Given the description of an element on the screen output the (x, y) to click on. 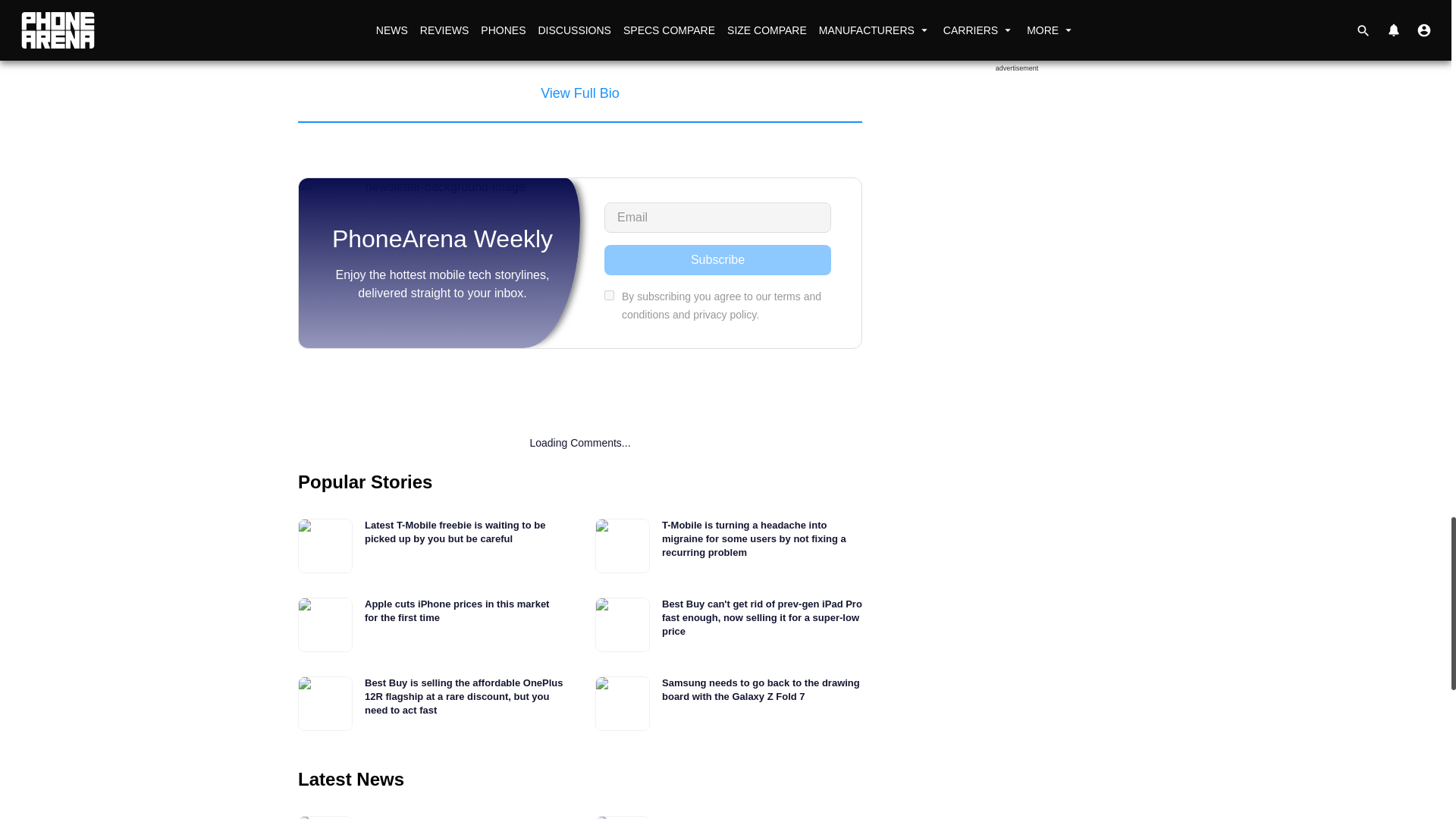
on (609, 295)
